Given the description of an element on the screen output the (x, y) to click on. 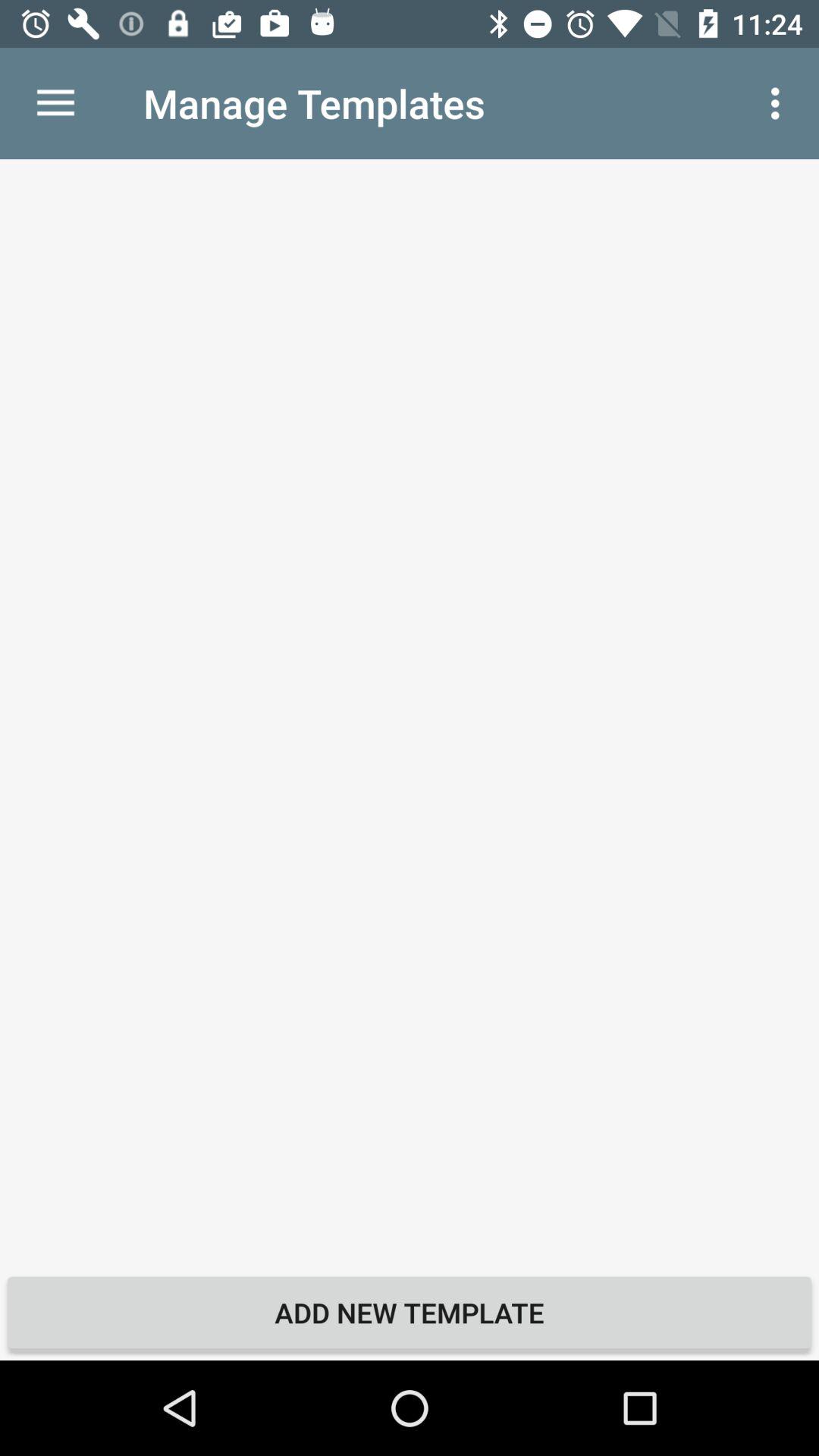
turn on item next to manage templates item (779, 103)
